Given the description of an element on the screen output the (x, y) to click on. 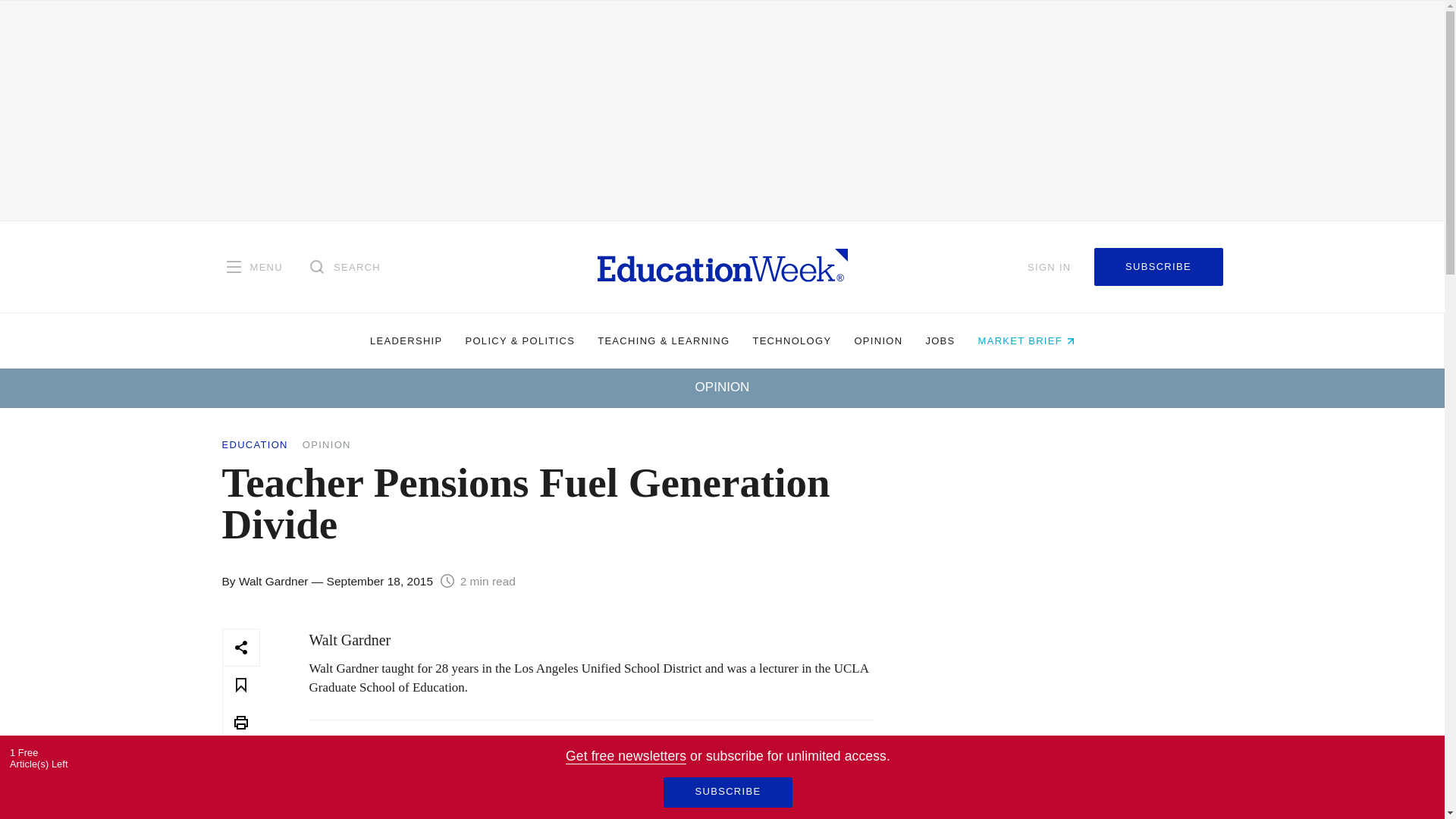
3rd party ad content (1070, 723)
Homepage (721, 266)
